Given the description of an element on the screen output the (x, y) to click on. 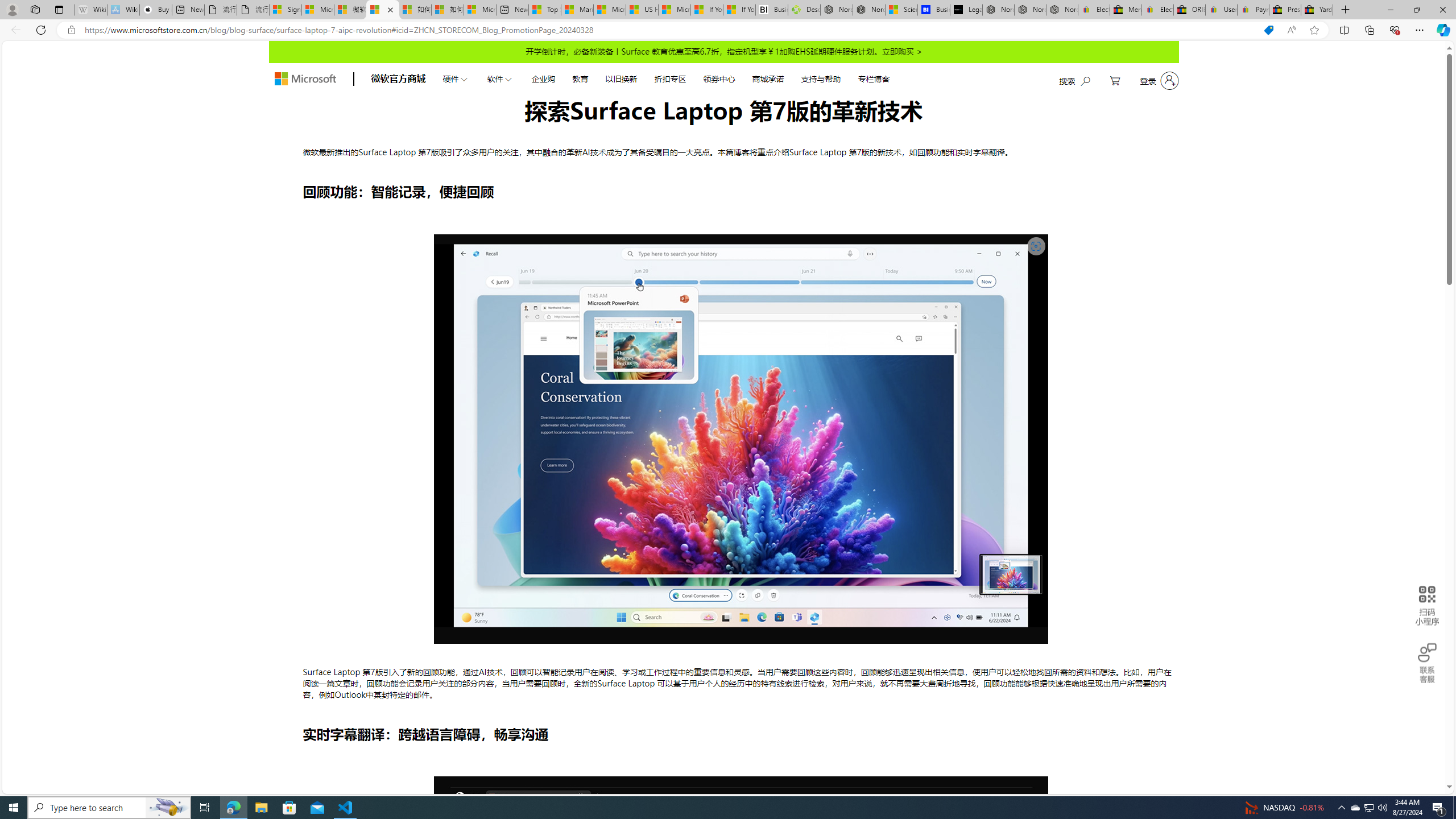
Buy iPad - Apple (155, 9)
